Given the description of an element on the screen output the (x, y) to click on. 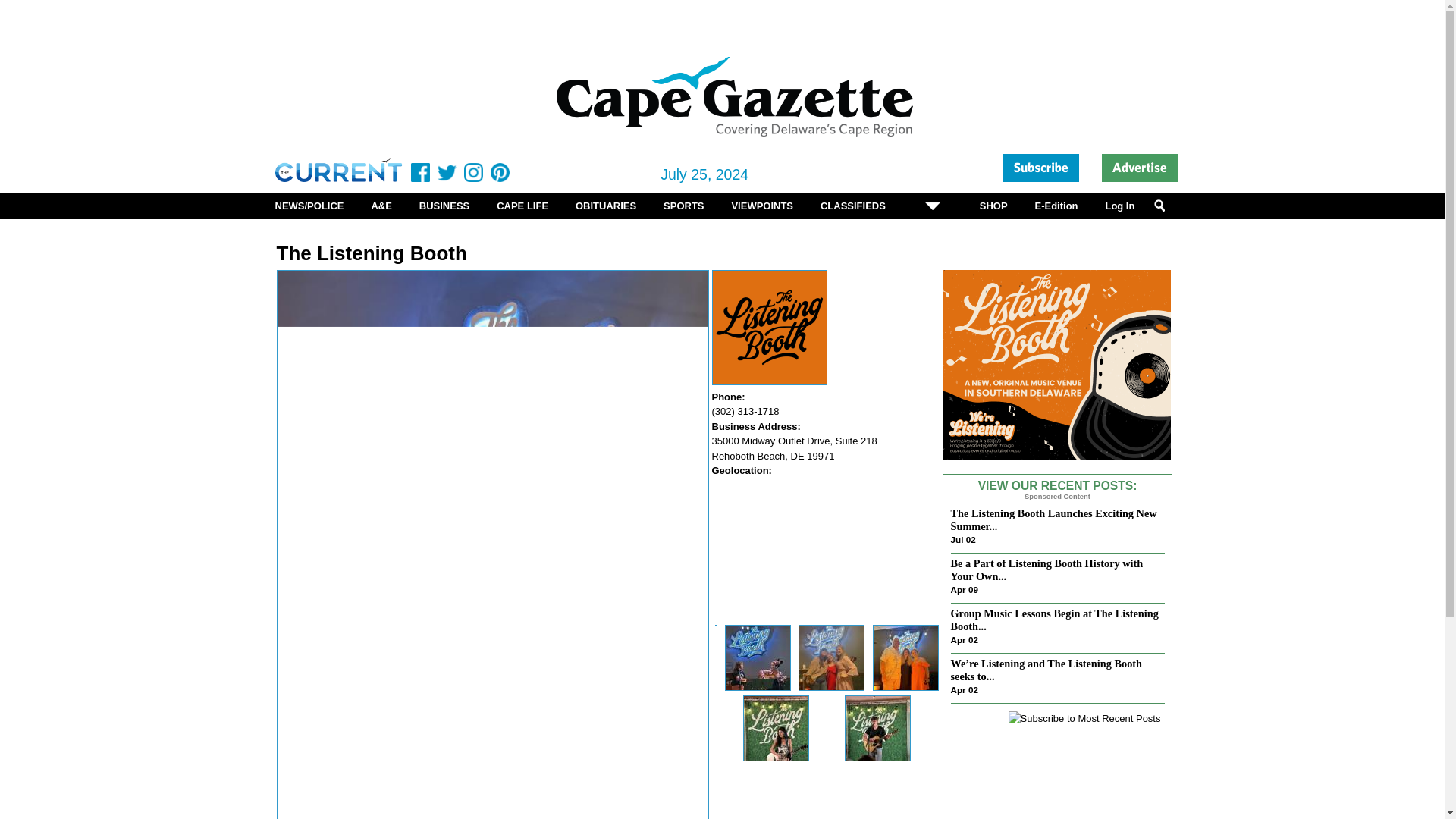
Russ Huxtable, Dar Williams and Marissa Lerer (905, 657)
Halley Neal, Marissa Levy and Julie Derrick (830, 657)
Subscribe to Most Recent Posts (1084, 718)
Cecilia Grace (775, 728)
Open Mic night every Wednesday (757, 657)
Maddox Gipko (877, 728)
